Given the description of an element on the screen output the (x, y) to click on. 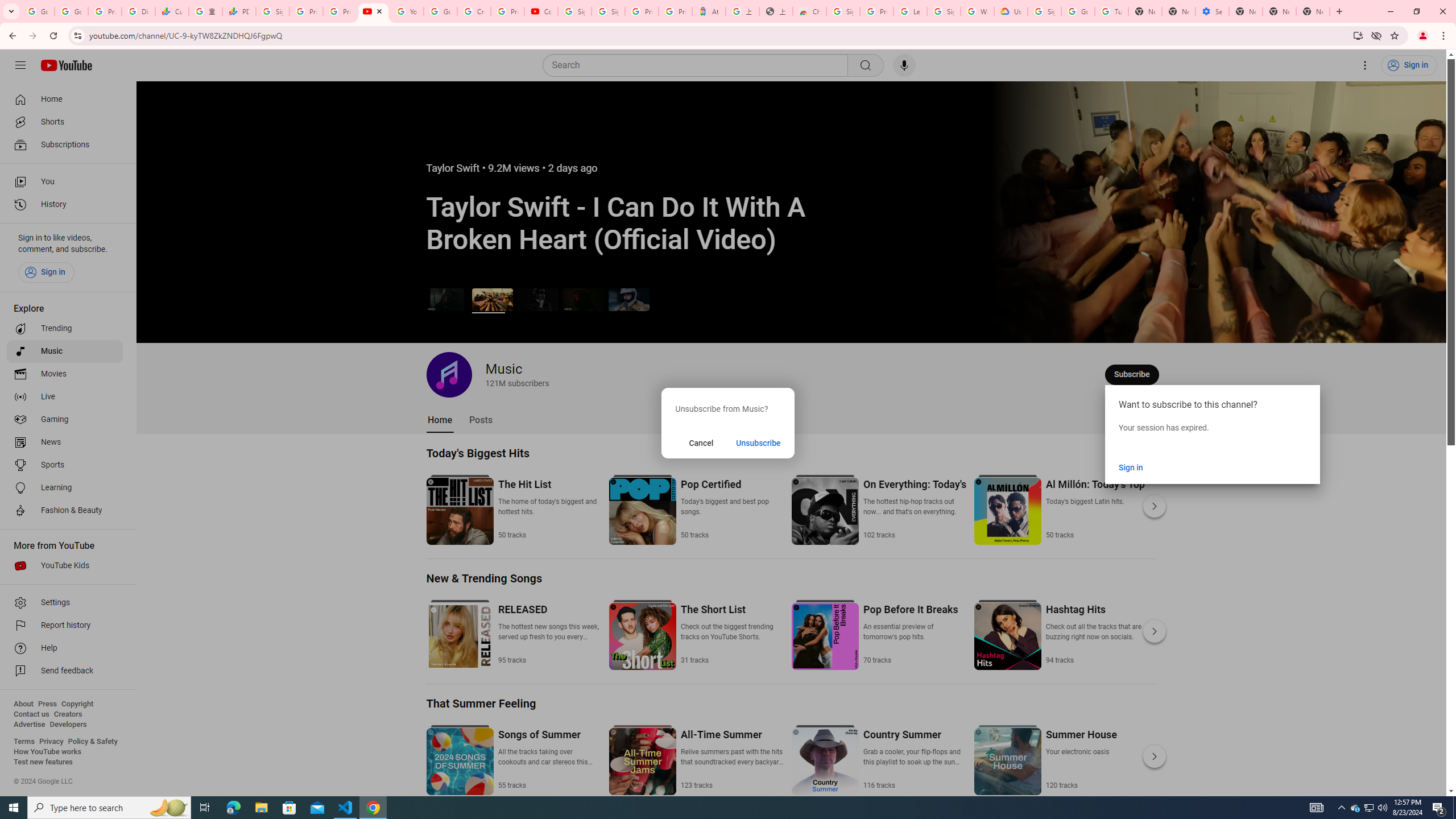
Posts (481, 420)
Turn cookies on or off - Computer - Google Account Help (1111, 11)
Create your Google Account (474, 11)
Gaming (64, 419)
YouTube Kids (64, 565)
Advertise (29, 724)
Policy & Safety (91, 741)
Movies (64, 373)
Sign in - Google Accounts (842, 11)
